Given the description of an element on the screen output the (x, y) to click on. 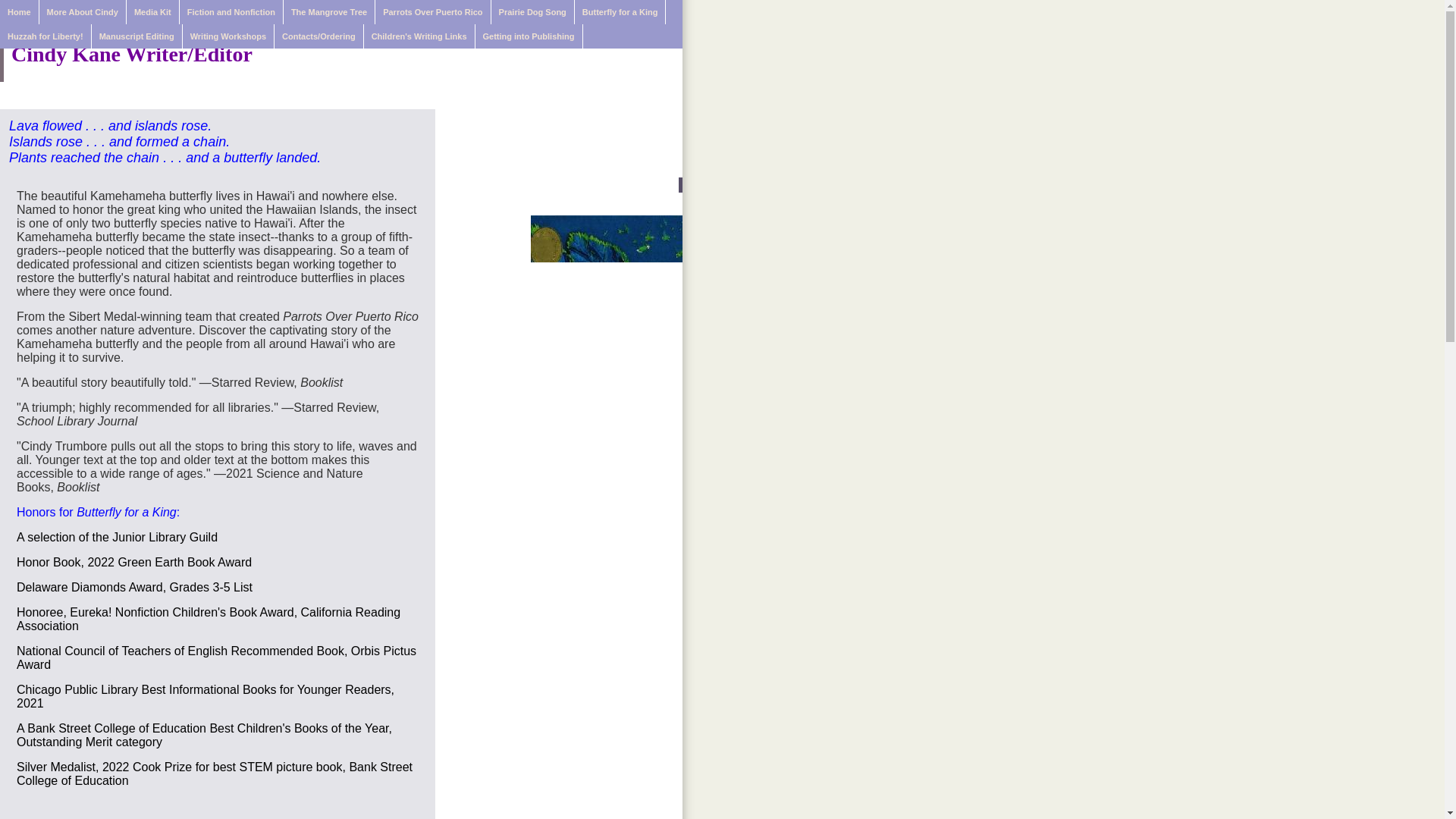
More About Cindy (82, 12)
Writing Workshops (229, 36)
Getting into Publishing (529, 36)
Parrots Over Puerto Rico (432, 12)
The Mangrove Tree (329, 12)
Home (19, 12)
Huzzah for Liberty! (45, 36)
Manuscript Editing (137, 36)
Fiction and Nonfiction (231, 12)
Media Kit (152, 12)
Butterfly for a King (620, 12)
Children's Writing Links (420, 36)
Prairie Dog Song (533, 12)
